Given the description of an element on the screen output the (x, y) to click on. 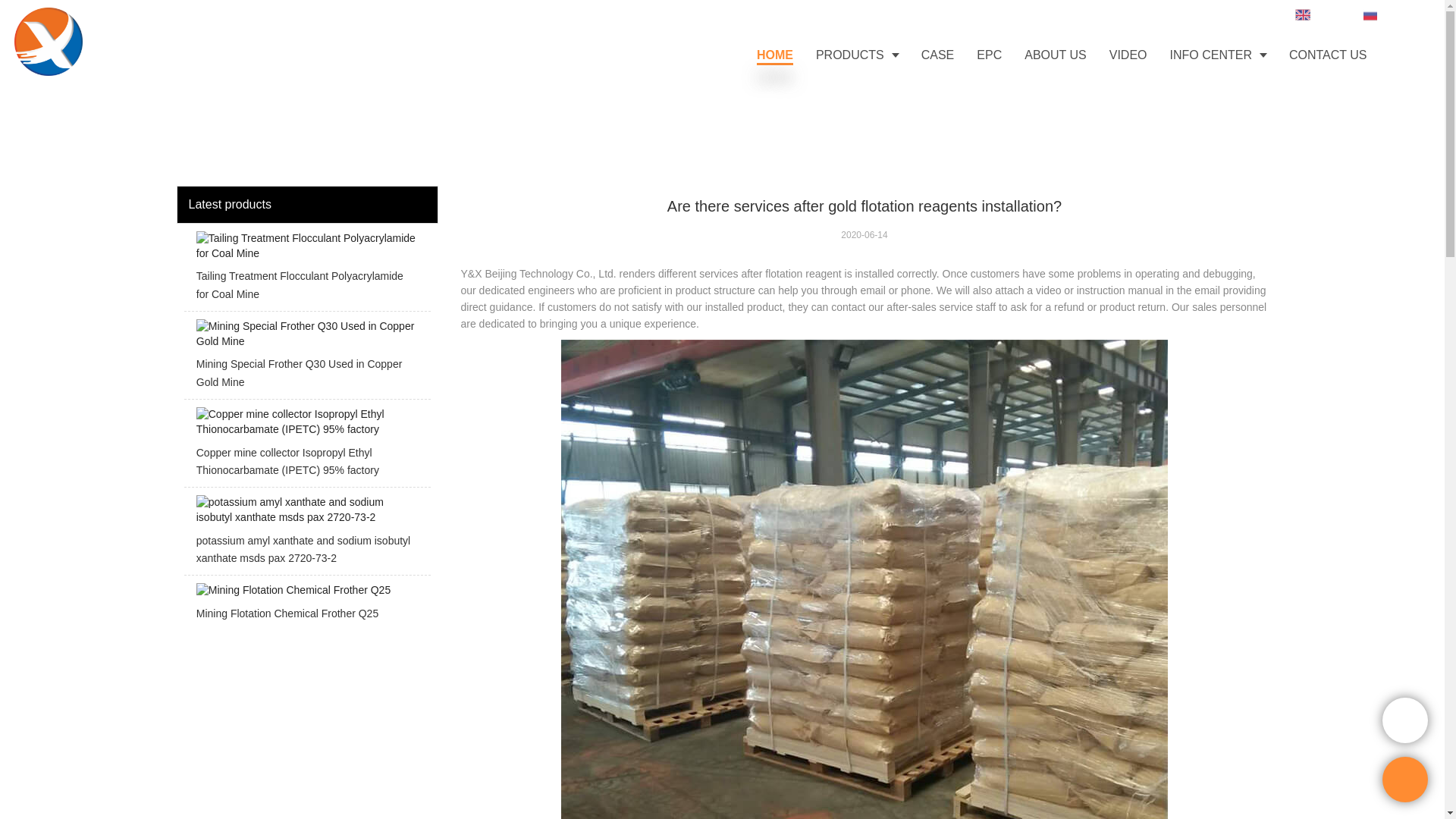
Mining Special Frother Q30 Used in Copper Gold Mine (306, 358)
ABOUT US (1055, 55)
INFO CENTER (1218, 55)
CONTACT US (1328, 55)
 English (1321, 13)
HOME (775, 55)
Tailing Treatment Flocculant Polyacrylamide for Coal Mine (306, 270)
VIDEO (1127, 55)
CASE (938, 55)
Mining Flotation Chemical Frother Q25 (306, 606)
PRODUCTS (857, 55)
